Given the description of an element on the screen output the (x, y) to click on. 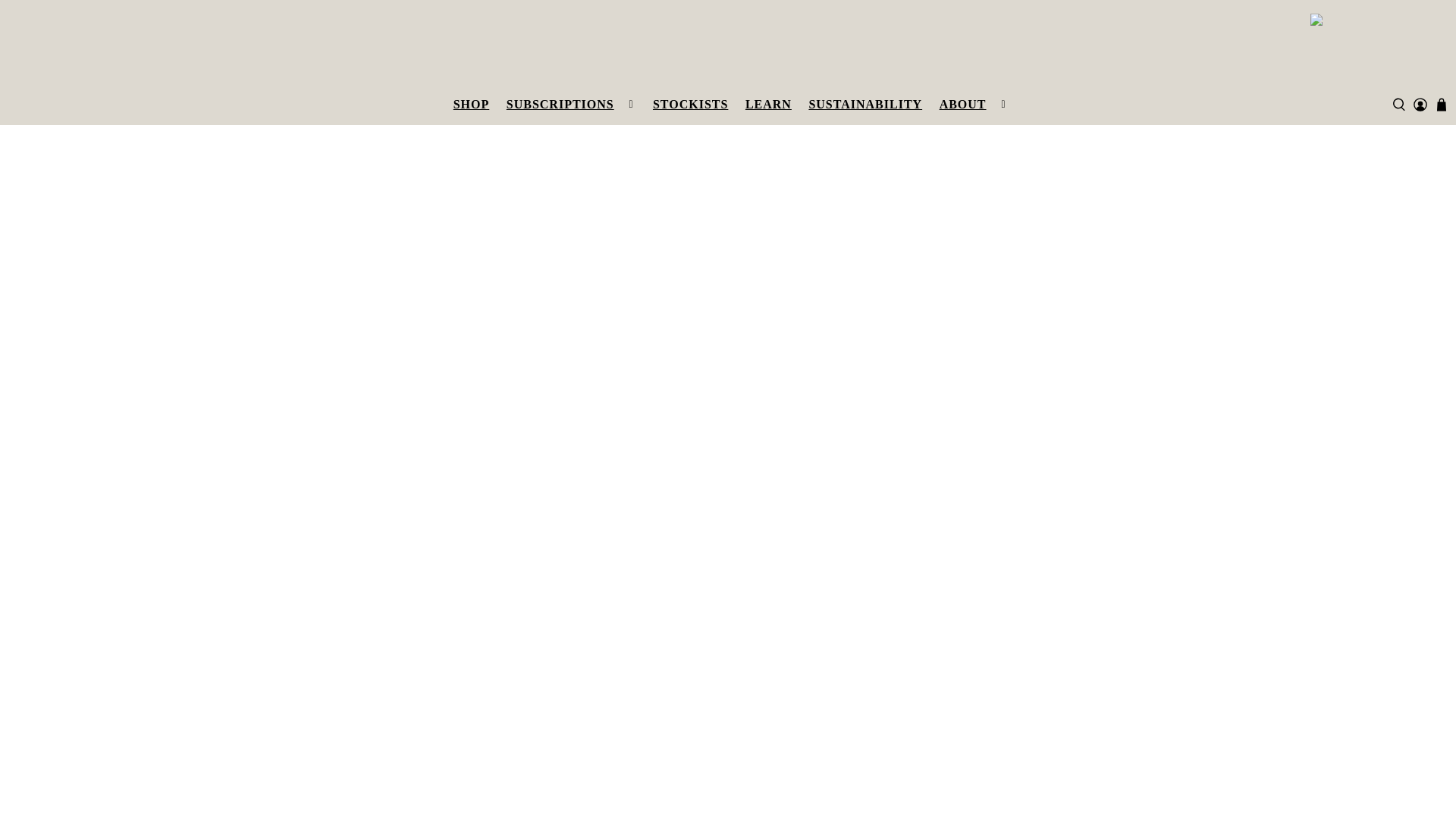
LEARN (768, 104)
SUBSCRIPTIONS (571, 104)
Coffee Hit (731, 45)
SUSTAINABILITY (864, 104)
ABOUT (973, 104)
SHOP (470, 104)
STOCKISTS (690, 104)
